Given the description of an element on the screen output the (x, y) to click on. 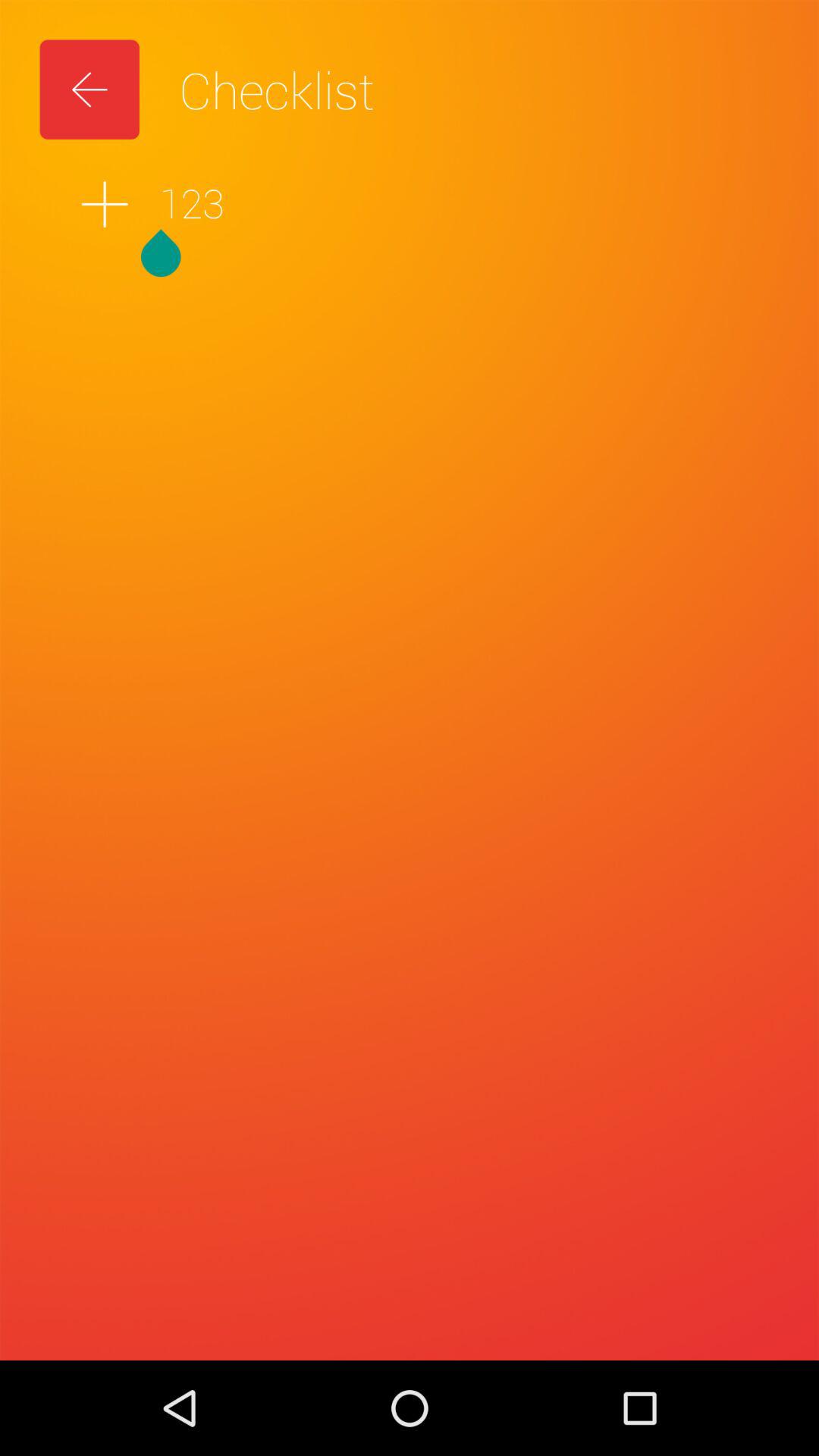
turn on 123 item (409, 204)
